Given the description of an element on the screen output the (x, y) to click on. 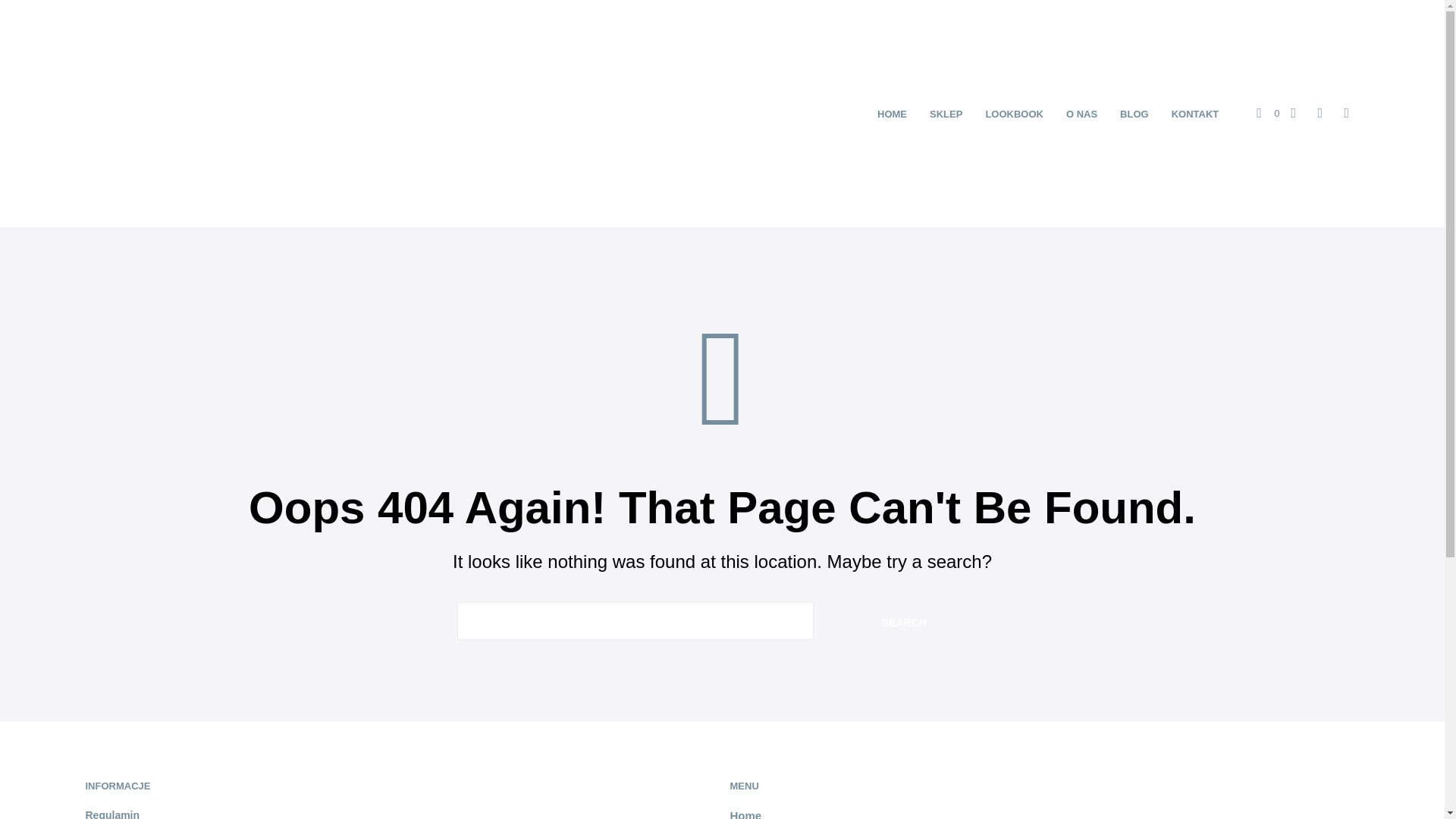
Search (904, 620)
Home (745, 814)
HOME (892, 114)
LOOKBOOK (1014, 114)
BLOG (1134, 114)
Search (904, 620)
O NAS (1081, 114)
KONTAKT (1195, 114)
SKLEP (946, 114)
Search (904, 620)
Regulamin (111, 814)
0 (1267, 113)
